Given the description of an element on the screen output the (x, y) to click on. 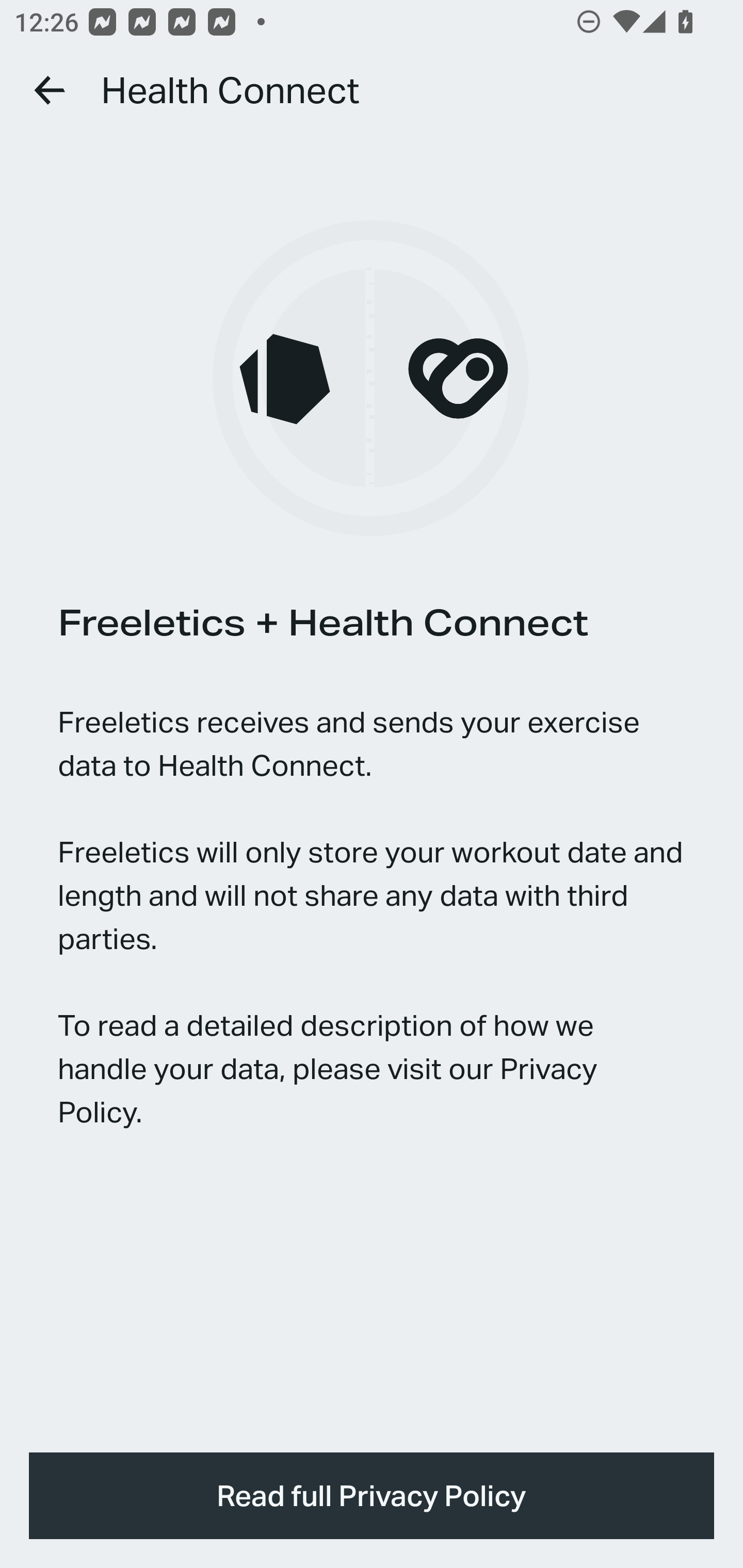
Go back (50, 90)
Read full Privacy Policy (371, 1495)
